Given the description of an element on the screen output the (x, y) to click on. 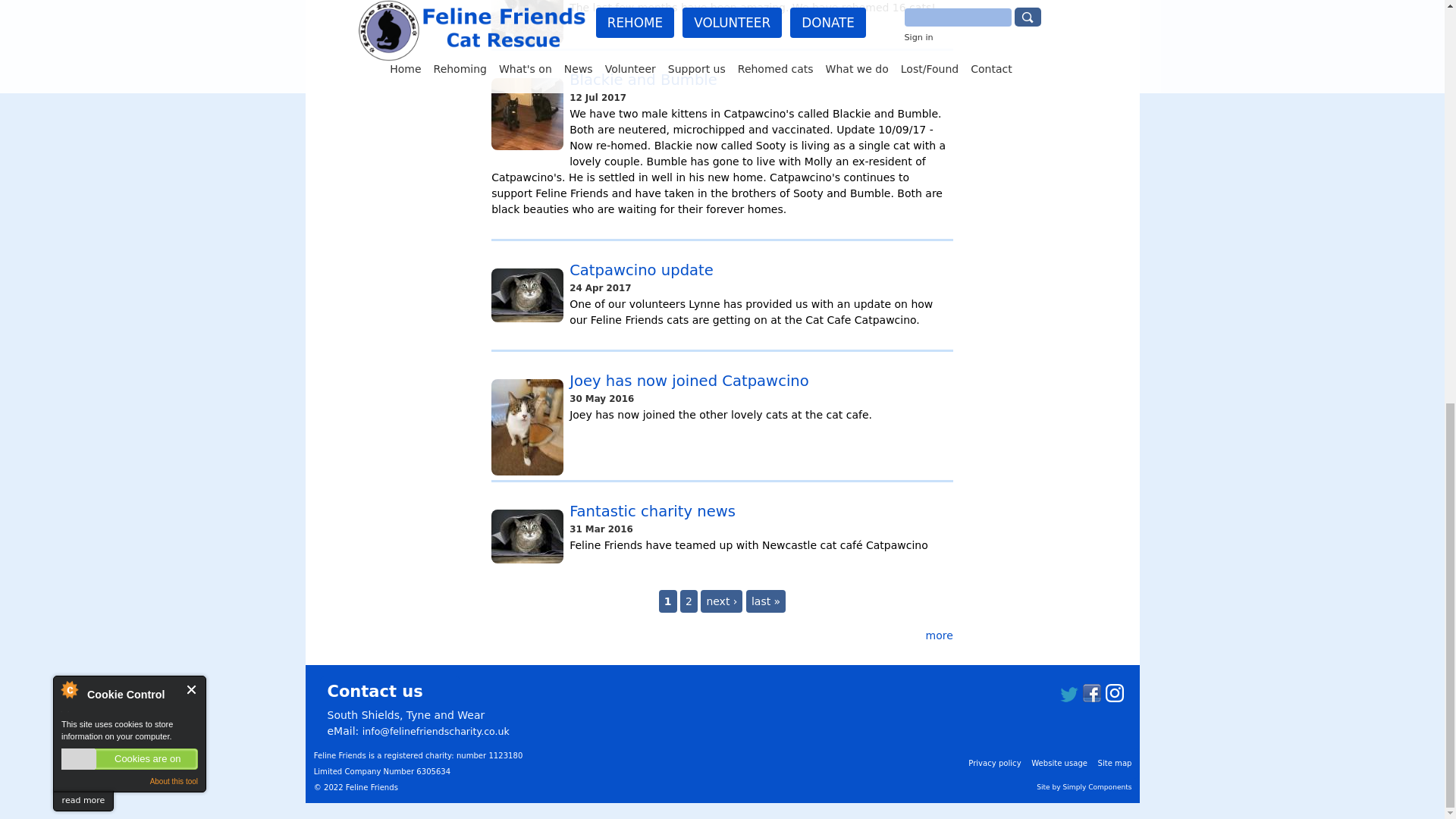
Go to next page (721, 600)
Blackie and Bumble (643, 79)
read more (82, 9)
Go to last page (765, 600)
